Given the description of an element on the screen output the (x, y) to click on. 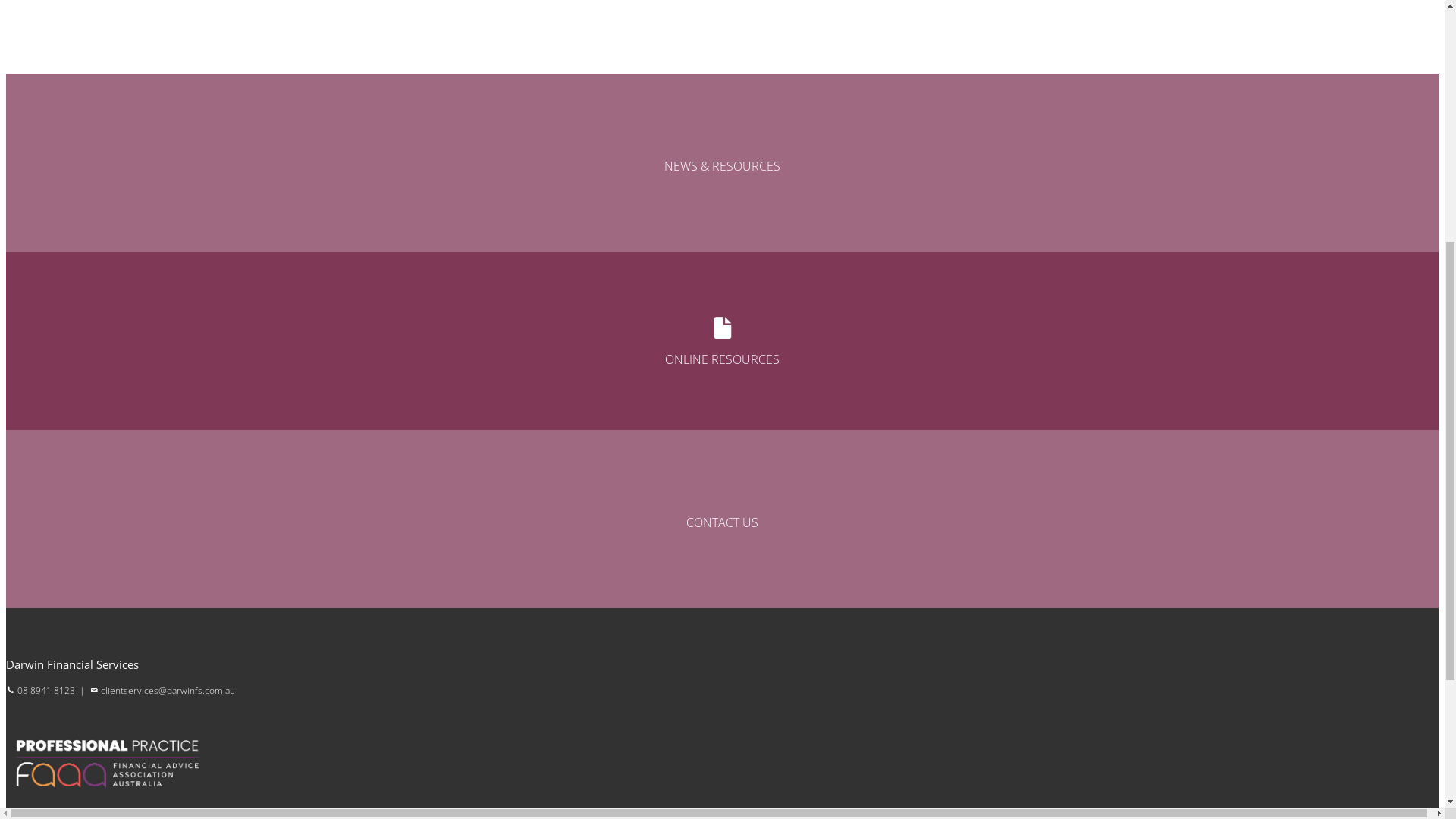
Advice Services Element type: text (1127, 211)
Home Element type: text (1099, 160)
About us Element type: text (1108, 176)
Our Advice Process Element type: text (1139, 360)
Services & Service Packages Element type: text (1163, 377)
Toggle navigation Element type: text (51, 121)
NEWS & RESOURCES Element type: text (722, 587)
News Element type: text (1098, 193)
clientservices@darwinfs.com.au Element type: text (1318, 36)
08 8941 8123 Element type: text (1109, 36)
Contact us Element type: text (1113, 393)
